Given the description of an element on the screen output the (x, y) to click on. 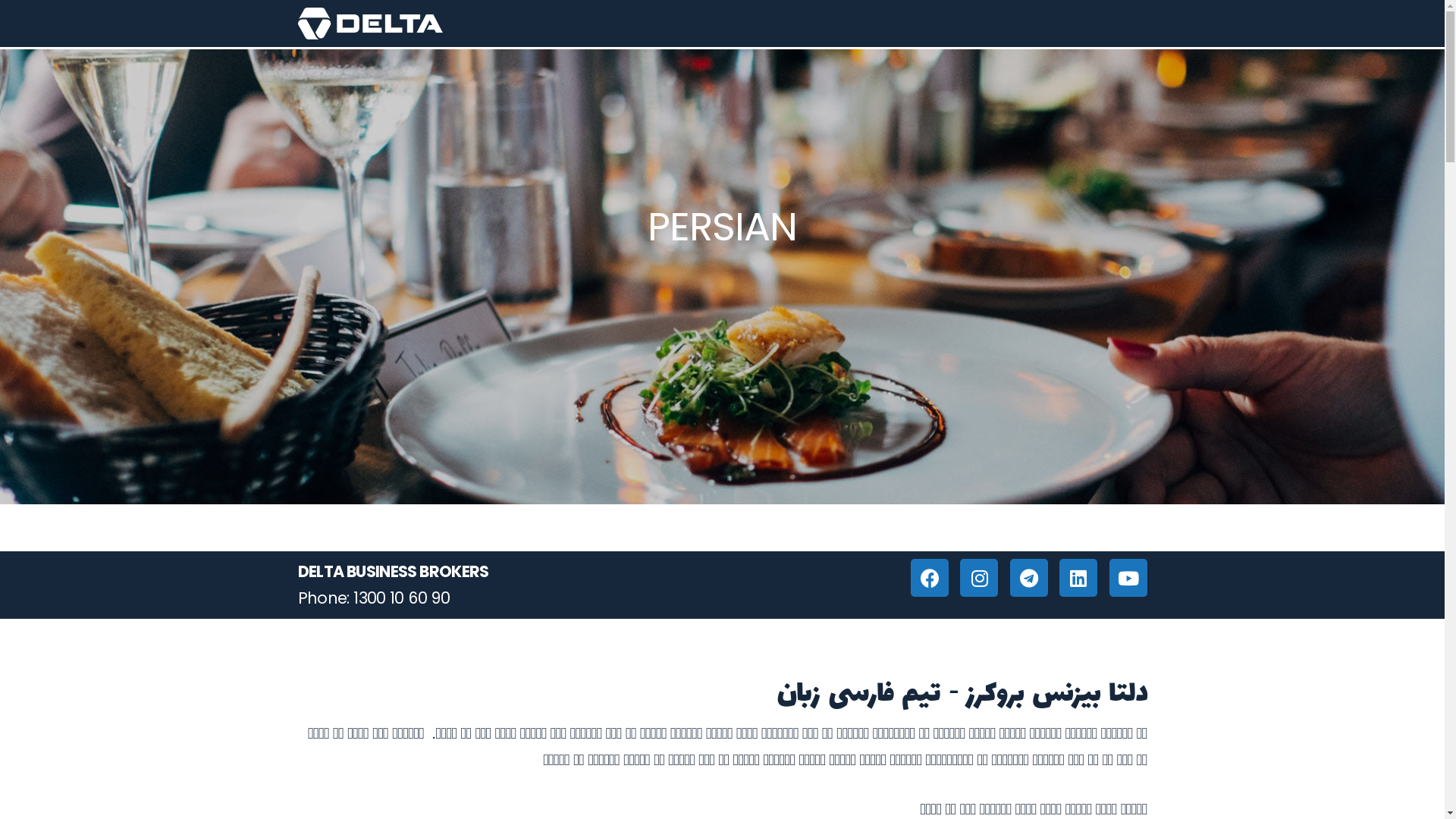
Delta Business Brokers Element type: hover (369, 23)
